Given the description of an element on the screen output the (x, y) to click on. 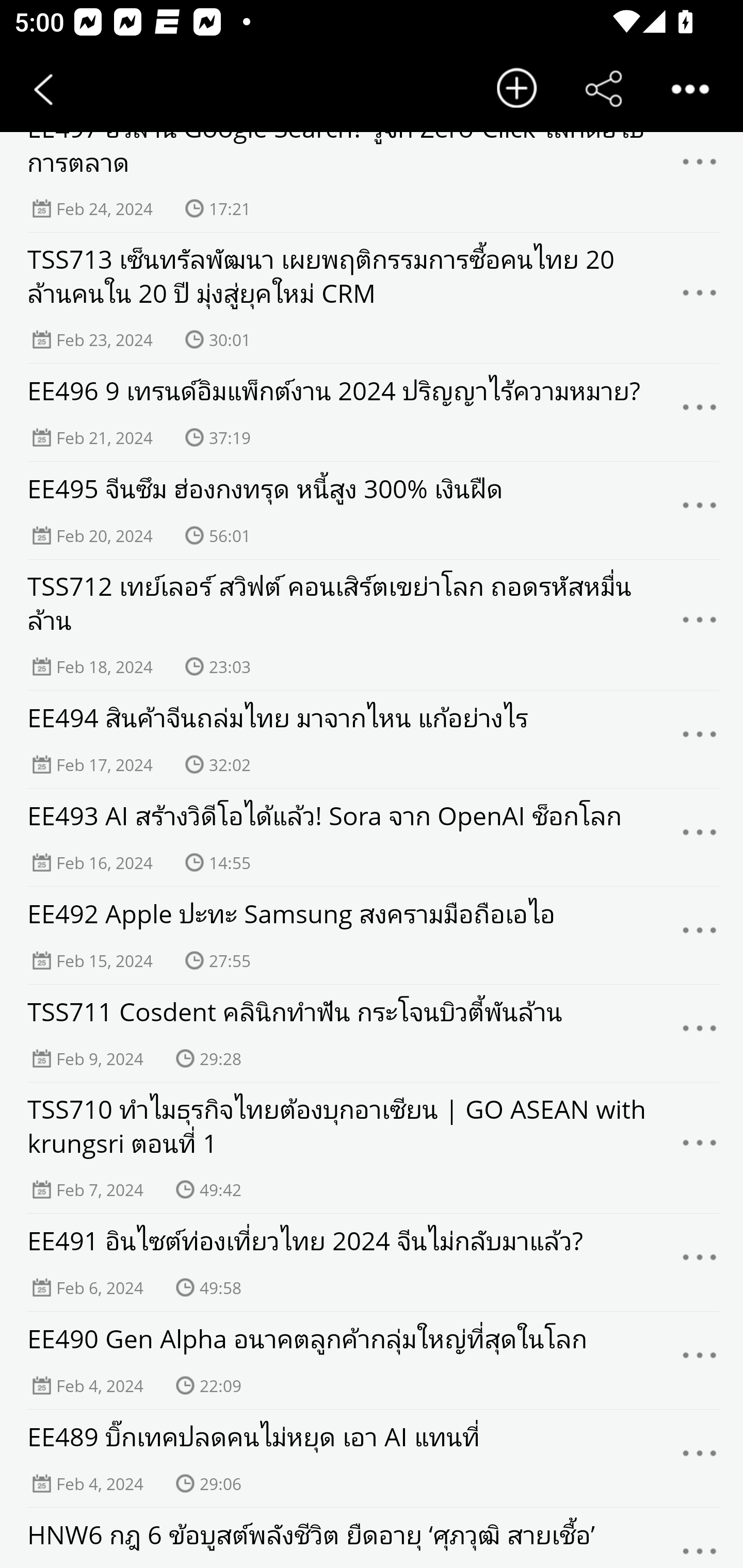
Back (43, 88)
Menu (699, 166)
Menu (699, 297)
Menu (699, 413)
Menu (699, 510)
Menu (699, 624)
Menu (699, 739)
Menu (699, 837)
Menu (699, 935)
Menu (699, 1033)
Menu (699, 1148)
Menu (699, 1262)
Menu (699, 1360)
Menu (699, 1458)
Menu (699, 1540)
